Given the description of an element on the screen output the (x, y) to click on. 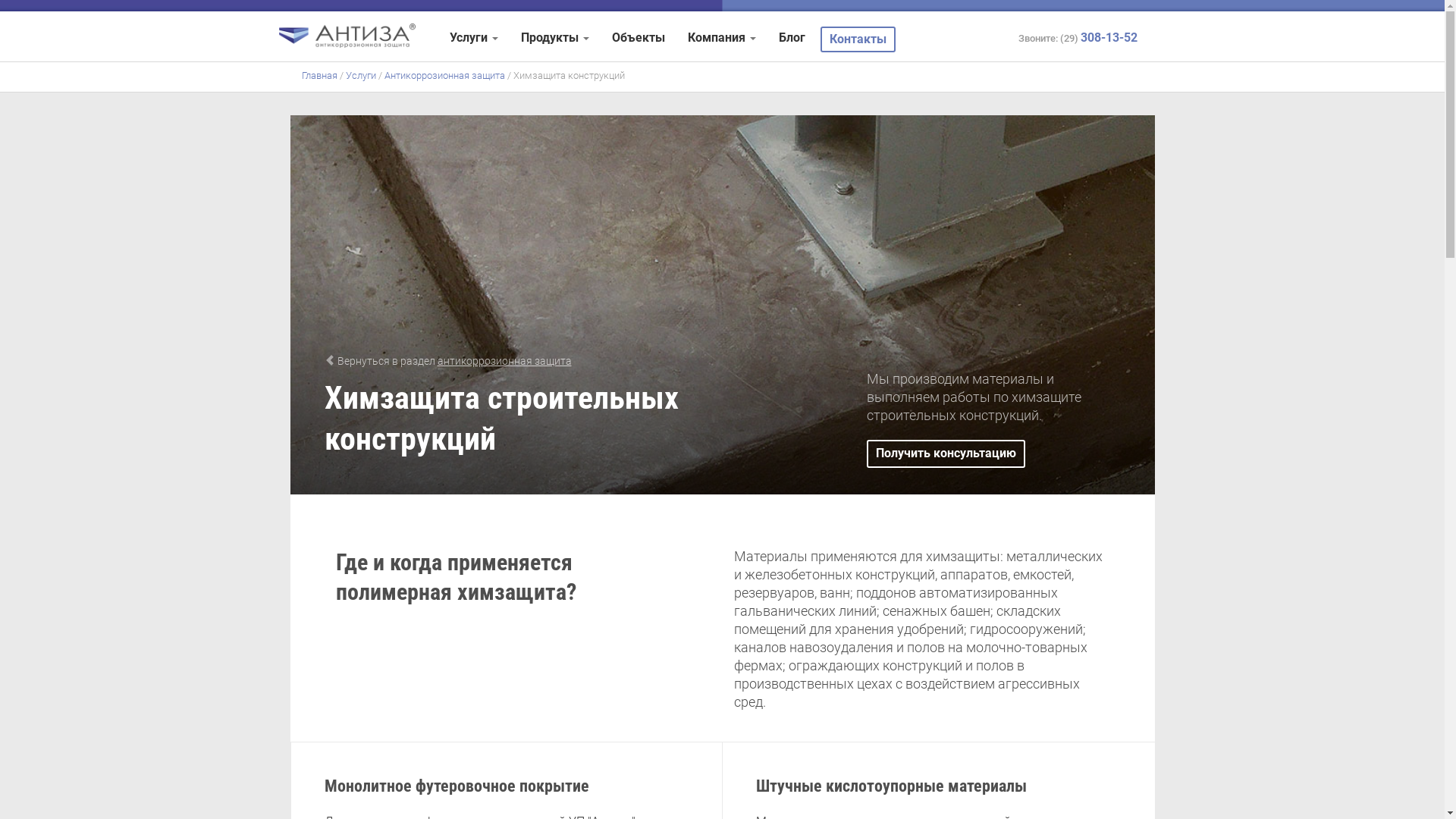
308-13-52 Element type: text (1107, 37)
